Given the description of an element on the screen output the (x, y) to click on. 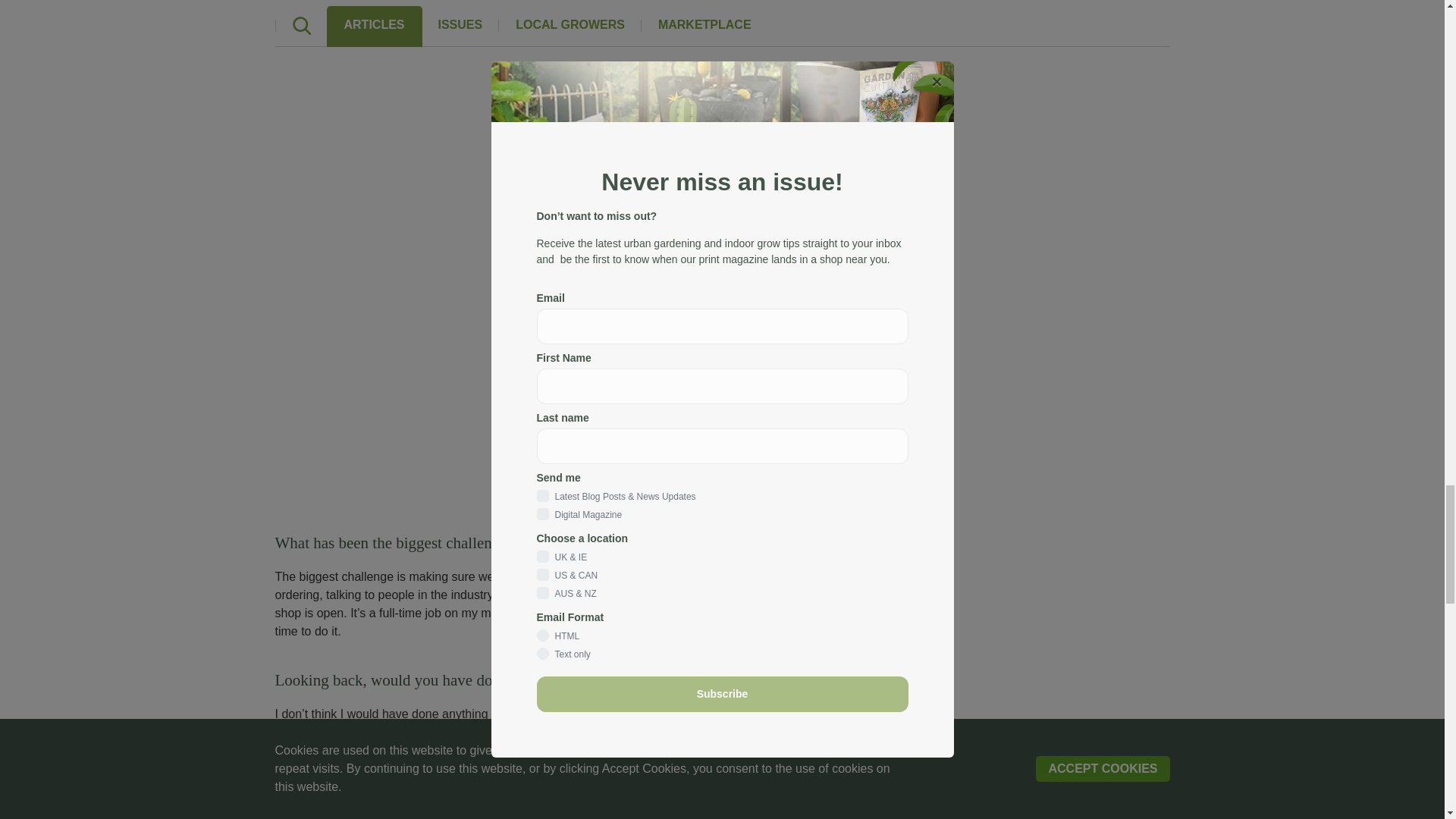
garden-alchemy.co.uk (598, 783)
